Given the description of an element on the screen output the (x, y) to click on. 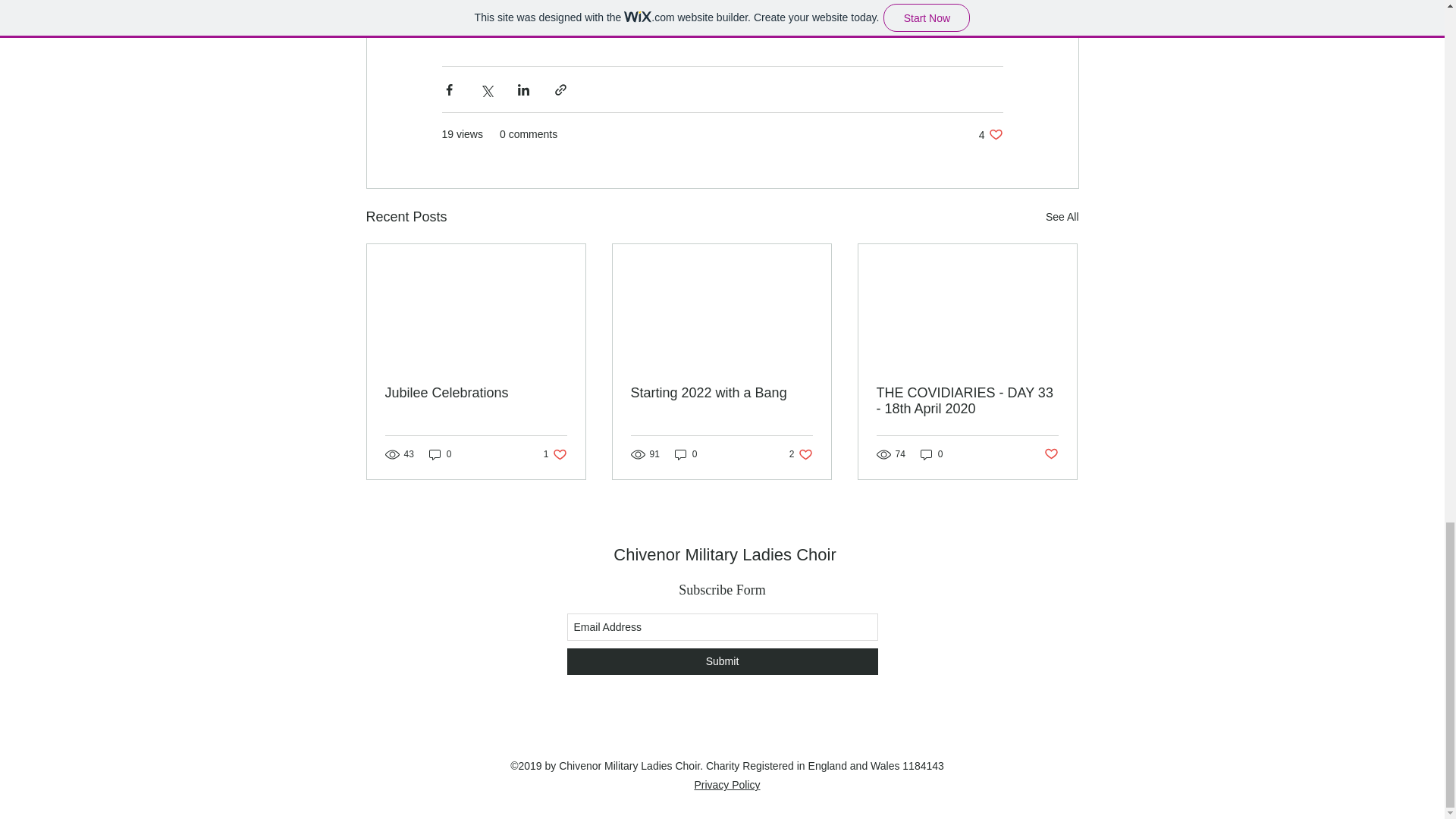
Jubilee Celebrations (555, 454)
THE COVIDIARIES - DAY 33 - 18th April 2020 (990, 134)
0 (476, 392)
See All (967, 400)
Post not marked as liked (440, 454)
Starting 2022 with a Bang (1061, 217)
Privacy Policy (800, 454)
Chivenor Military Ladies Choir (1050, 454)
0 (721, 392)
0 (727, 784)
Submit (723, 554)
